Given the description of an element on the screen output the (x, y) to click on. 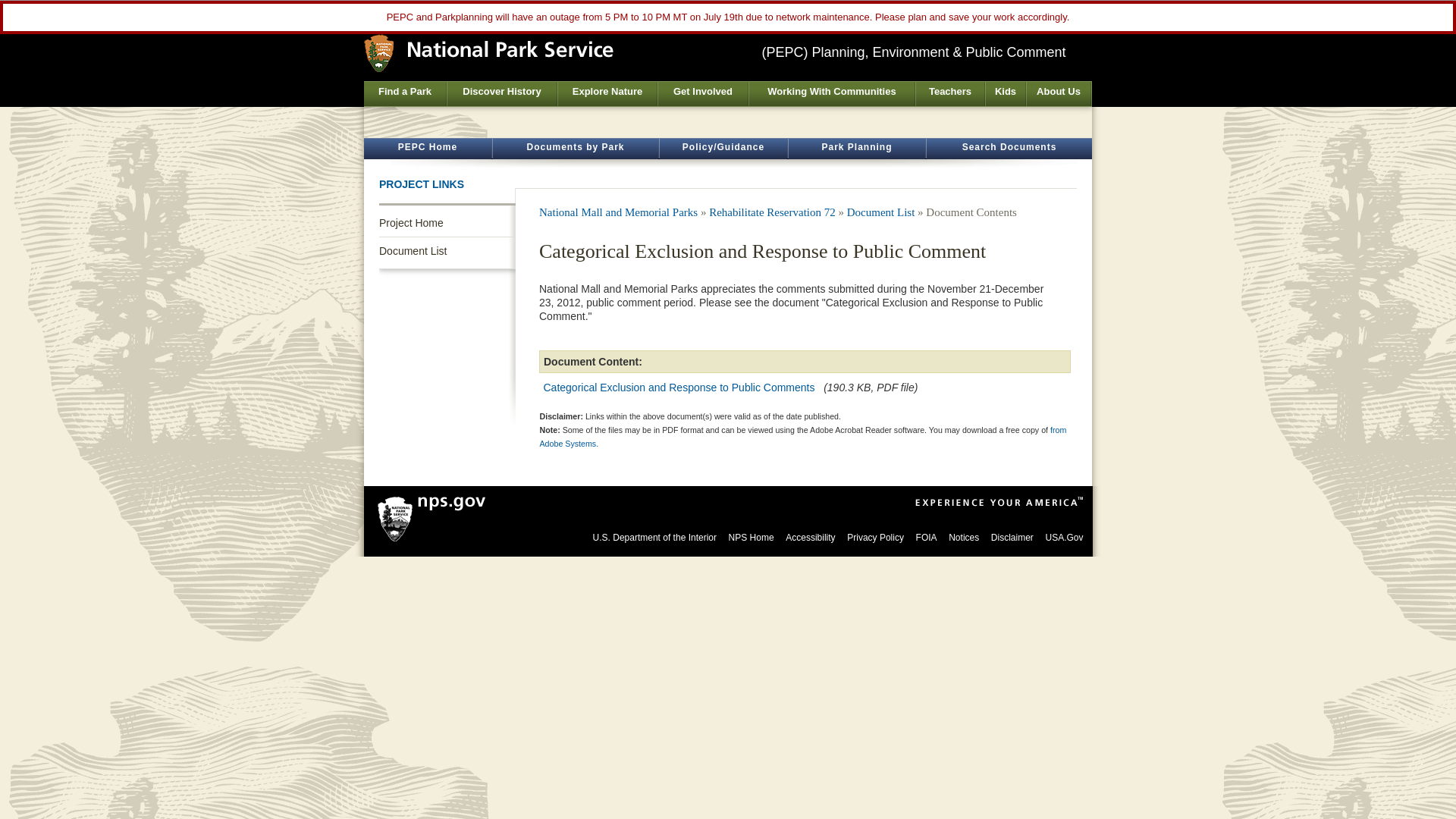
Find projects by search (856, 148)
Notices (963, 537)
Teachers (949, 93)
National Mall and Memorial Parks (617, 212)
Kids (1005, 93)
Find projects by park  (575, 148)
Discover History (501, 93)
Freedom of Information Act (926, 537)
Privacy Policy (875, 537)
Documents by Park (575, 148)
Policy and guidance links (723, 148)
About Us (1058, 93)
Explore Nature (606, 93)
Disclaimer (1012, 537)
NPS Home (751, 537)
